Given the description of an element on the screen output the (x, y) to click on. 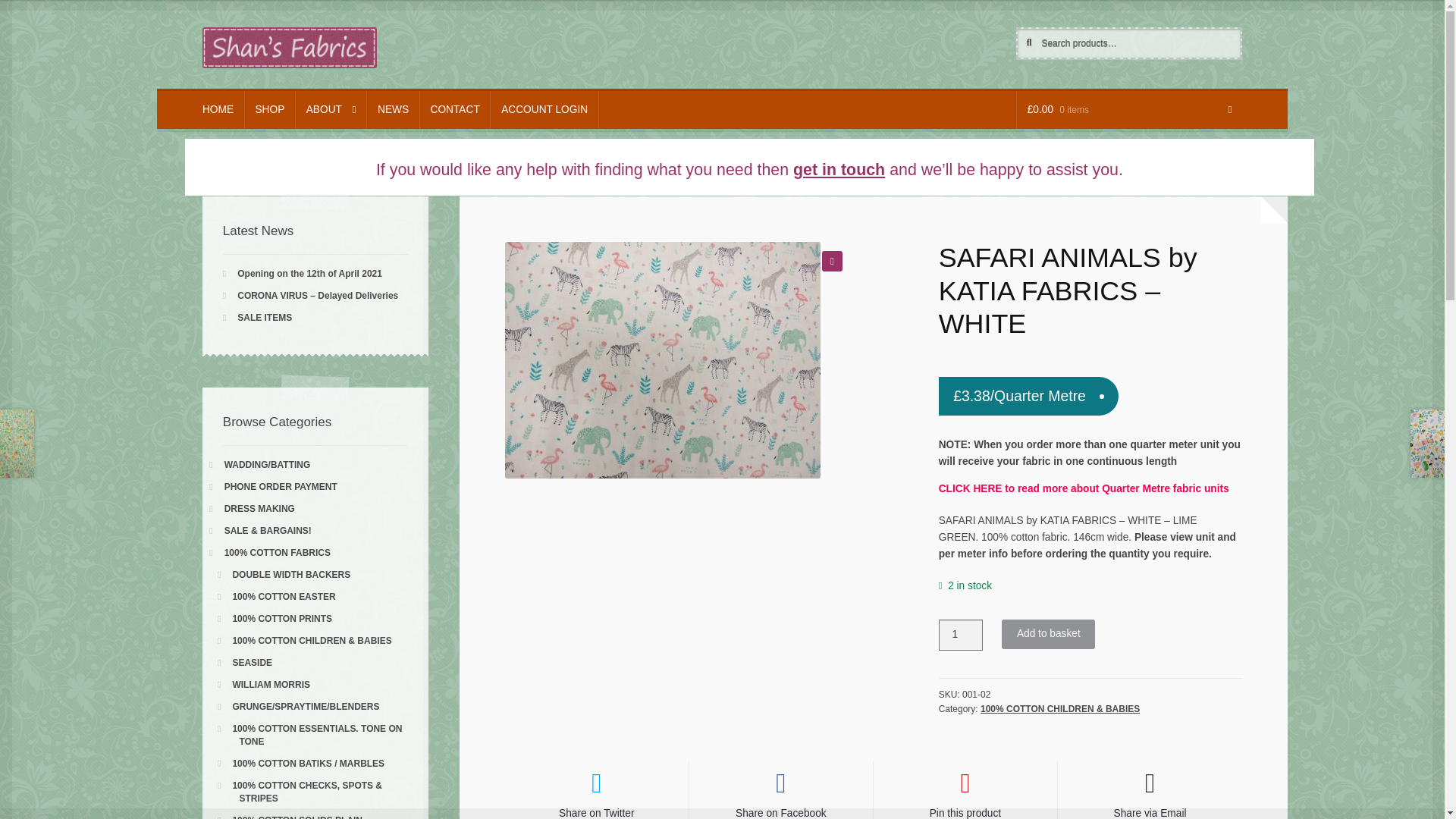
ABOUT (330, 109)
View your shopping basket (1128, 109)
HOME (218, 109)
Share via Email (1149, 790)
CLICK HERE to read more about Quarter Metre fabric units (1083, 488)
CONTACT (455, 109)
get in touch (839, 169)
SHOP (269, 109)
Share on Twitter (596, 790)
Add to basket (1047, 634)
ACCOUNT LOGIN (543, 109)
Share on Facebook (780, 790)
NEWS (392, 109)
Pin this product (965, 790)
